Given the description of an element on the screen output the (x, y) to click on. 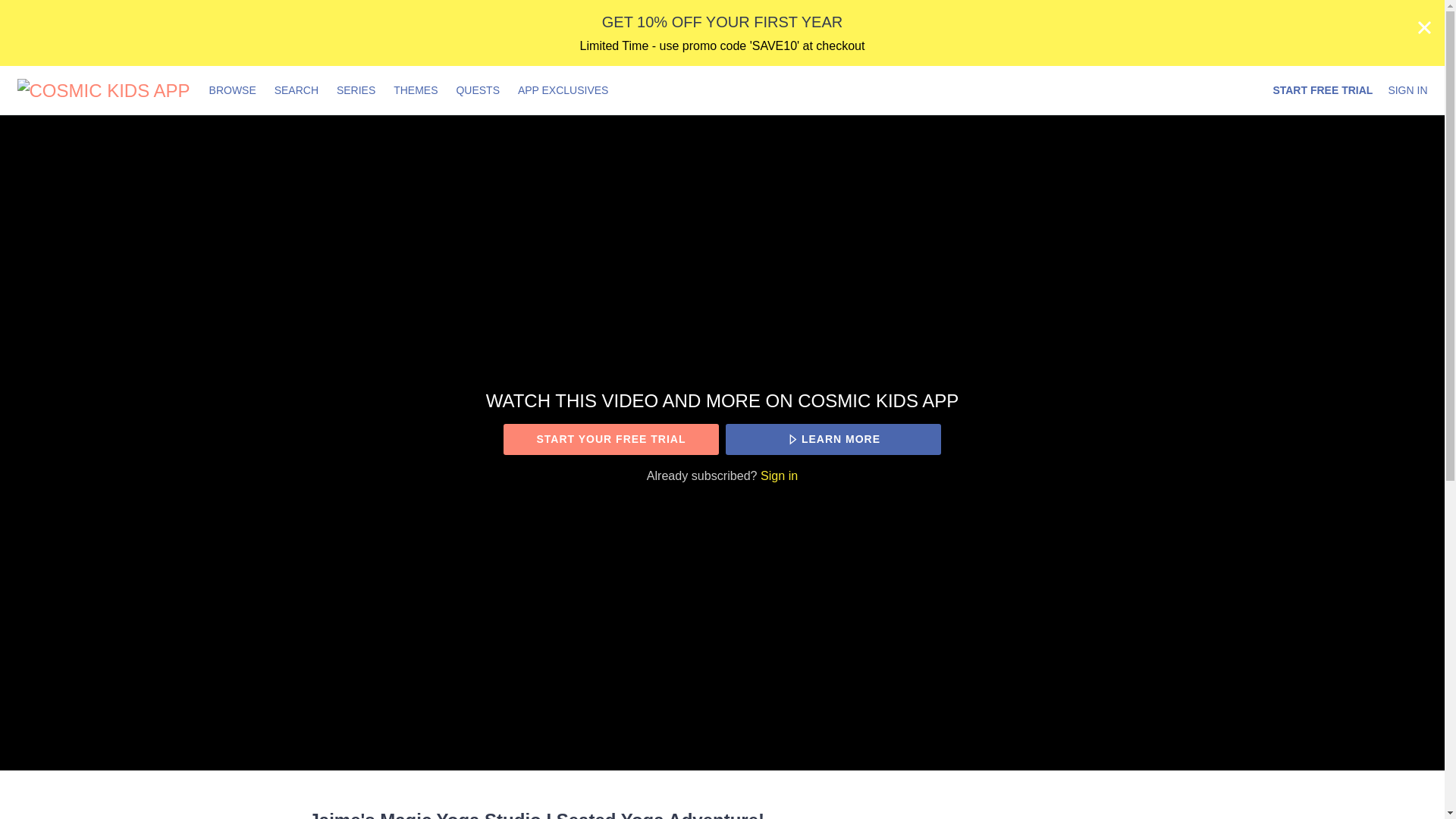
SIGN IN (1406, 90)
THEMES (415, 90)
QUESTS (477, 90)
Sign in (778, 475)
Skip to main content (48, 7)
START FREE TRIAL (1322, 90)
START YOUR FREE TRIAL (610, 439)
SEARCH (297, 90)
APP EXCLUSIVES (563, 90)
LEARN MORE (832, 439)
BROWSE (234, 90)
SERIES (355, 90)
